Given the description of an element on the screen output the (x, y) to click on. 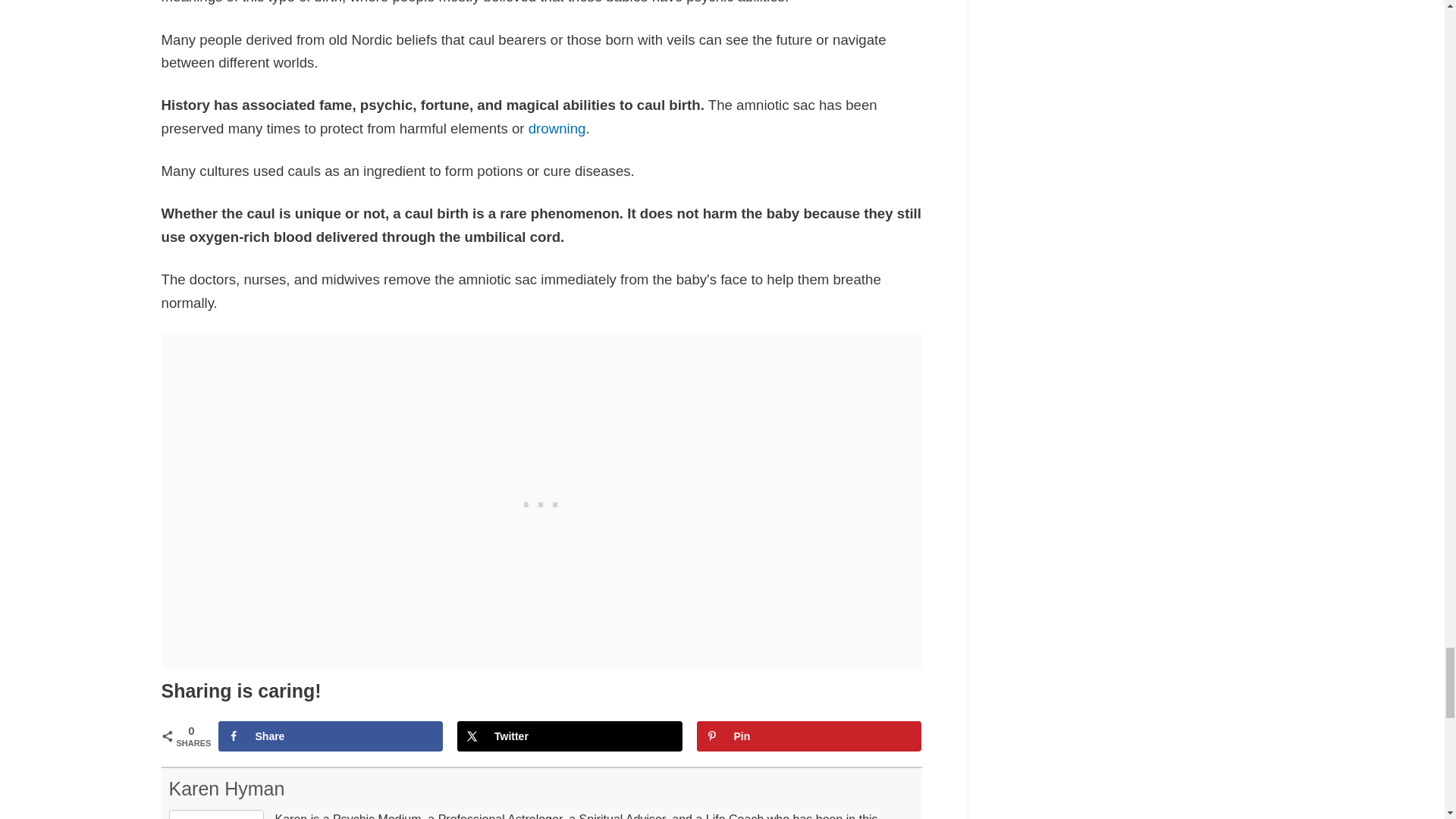
Save to Pinterest (808, 736)
Share on Facebook (331, 736)
All posts by Karen Hyman (225, 788)
Share on X (569, 736)
